Given the description of an element on the screen output the (x, y) to click on. 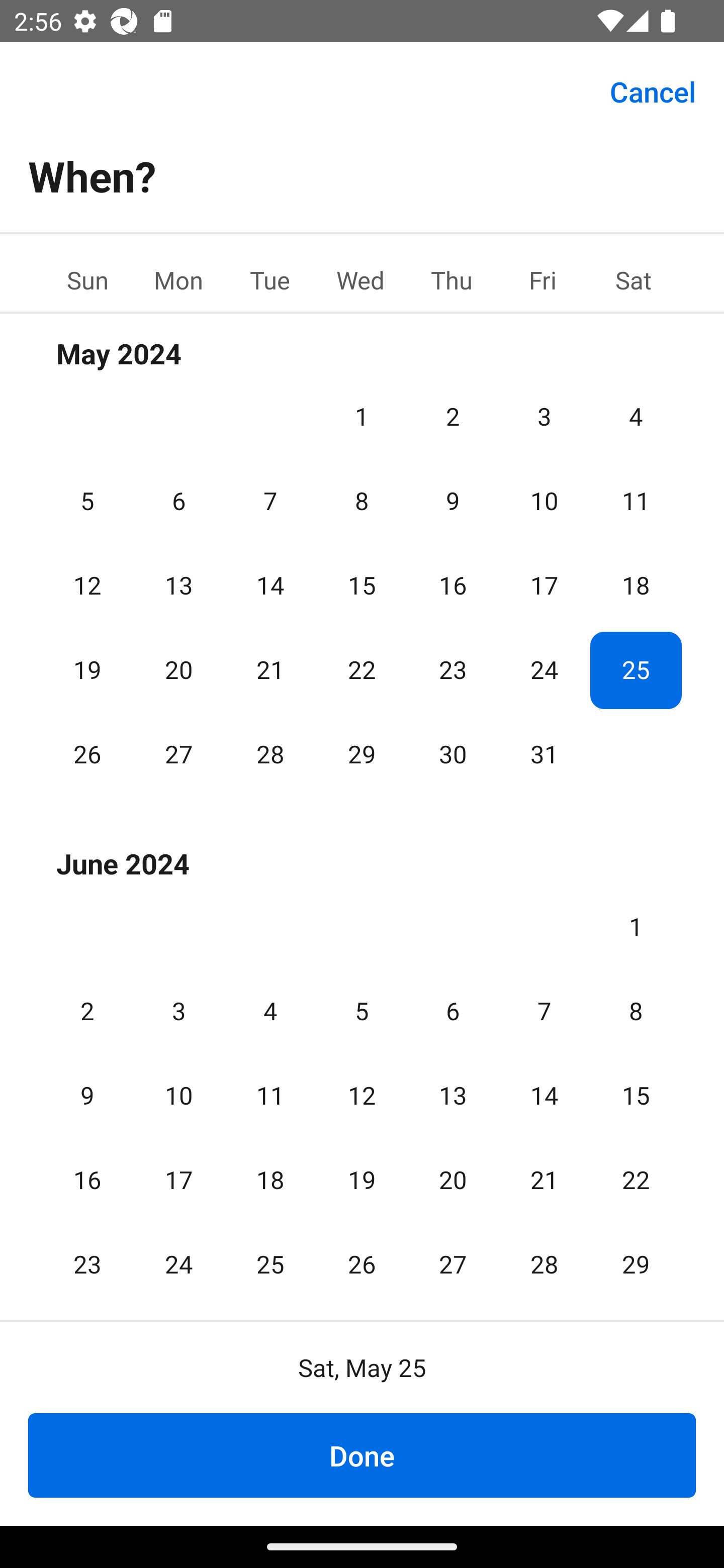
Cancel (652, 90)
Done (361, 1454)
